Given the description of an element on the screen output the (x, y) to click on. 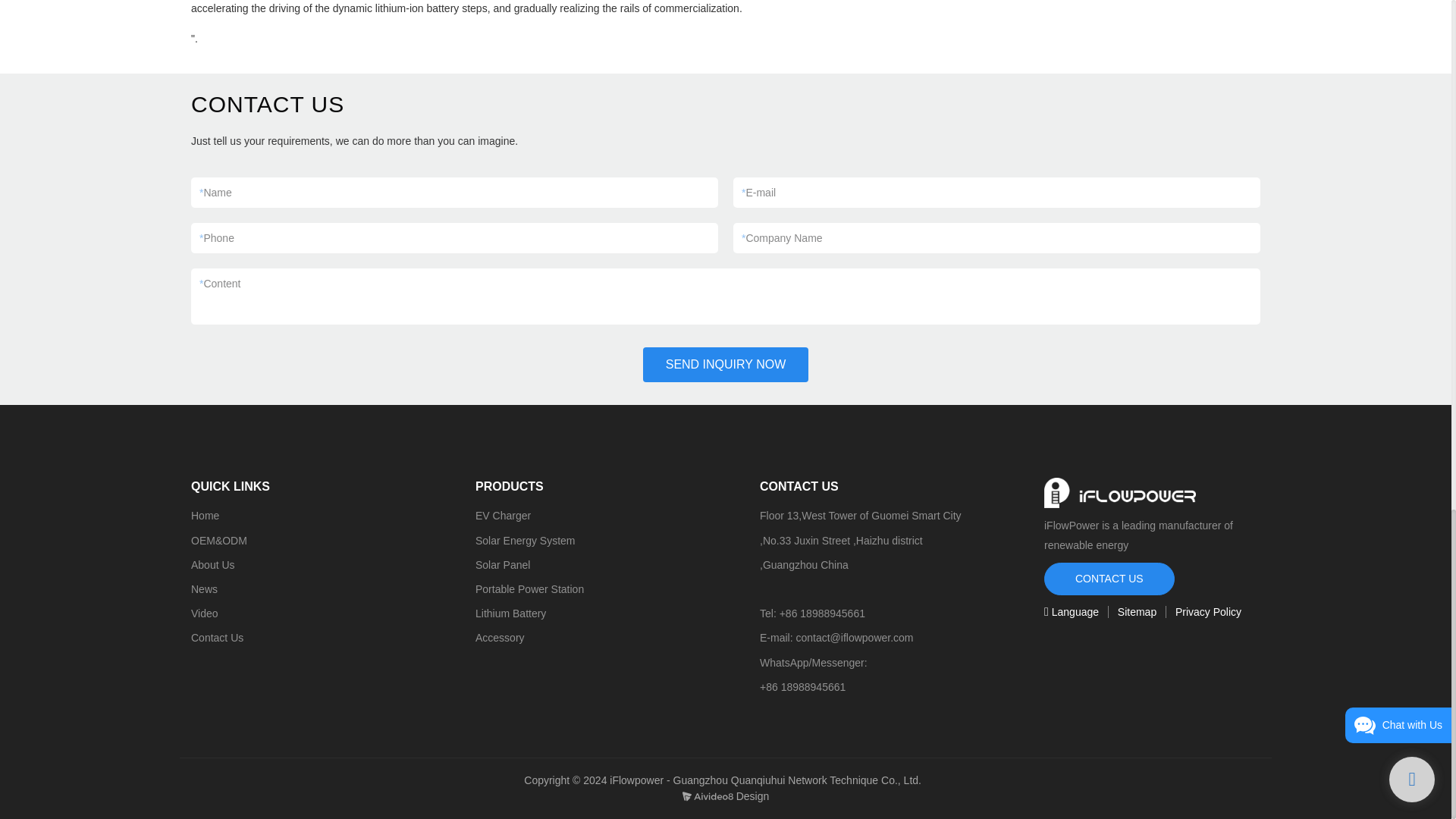
About Us (212, 564)
News (203, 589)
Video (204, 613)
Home (204, 515)
Contact Us (216, 637)
SEND INQUIRY NOW (726, 364)
